Given the description of an element on the screen output the (x, y) to click on. 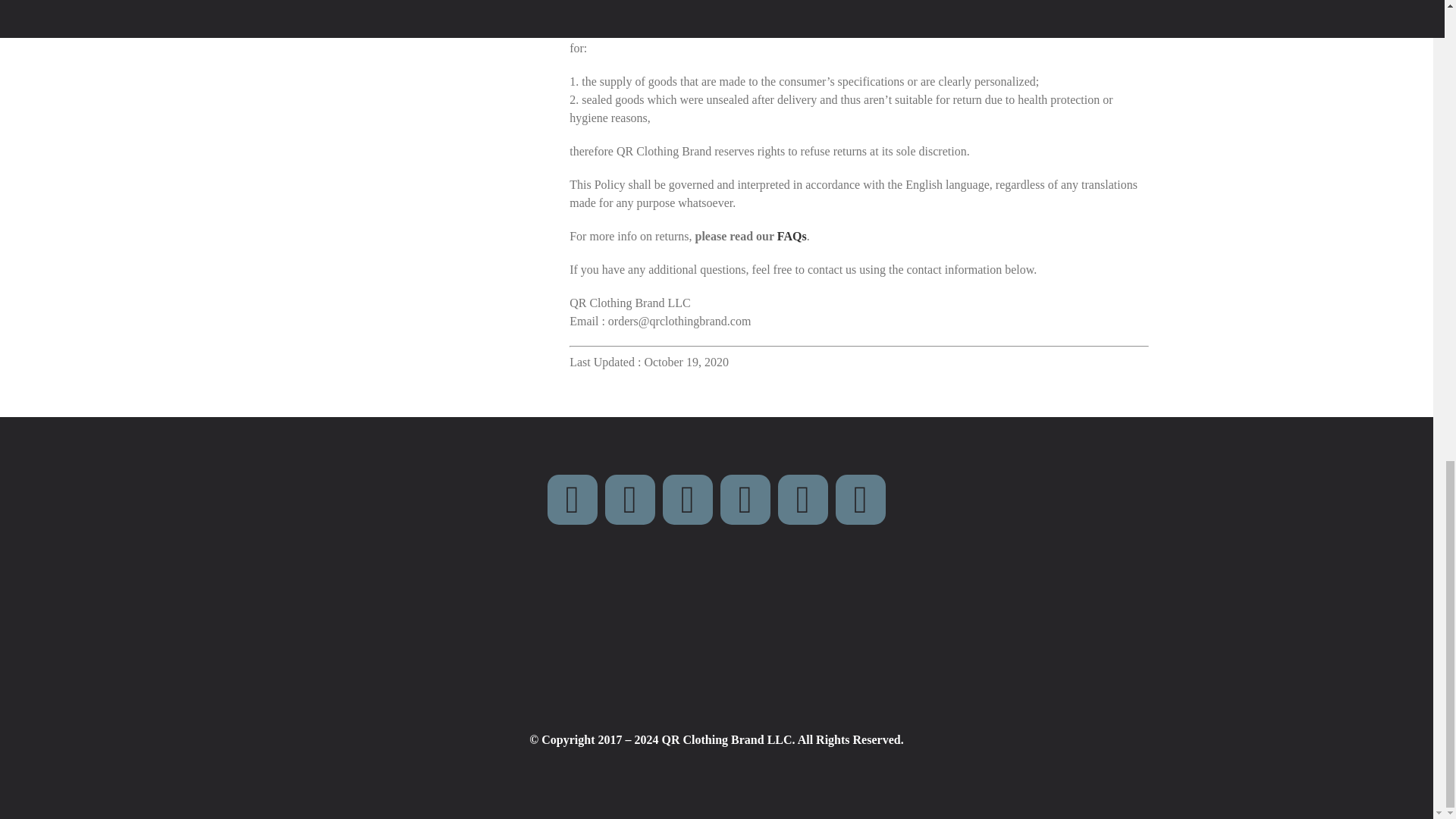
Instagram (687, 499)
Facebook (571, 499)
FAQs (791, 236)
X (630, 499)
